Given the description of an element on the screen output the (x, y) to click on. 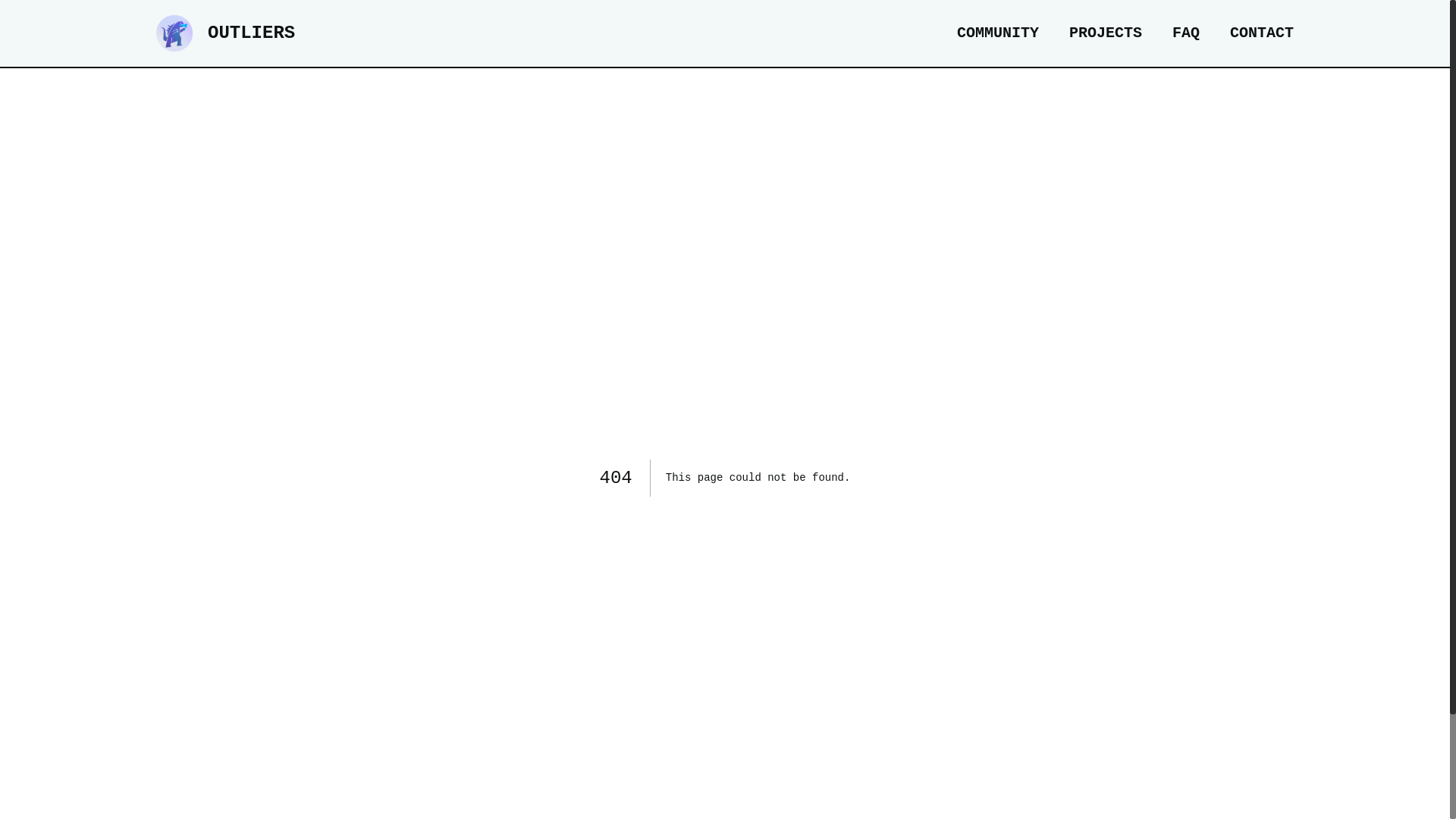
FAQ Element type: text (1185, 32)
PROJECTS Element type: text (1105, 32)
OUTLIERS Element type: text (225, 33)
CONTACT Element type: text (1261, 32)
COMMUNITY Element type: text (997, 32)
